Given the description of an element on the screen output the (x, y) to click on. 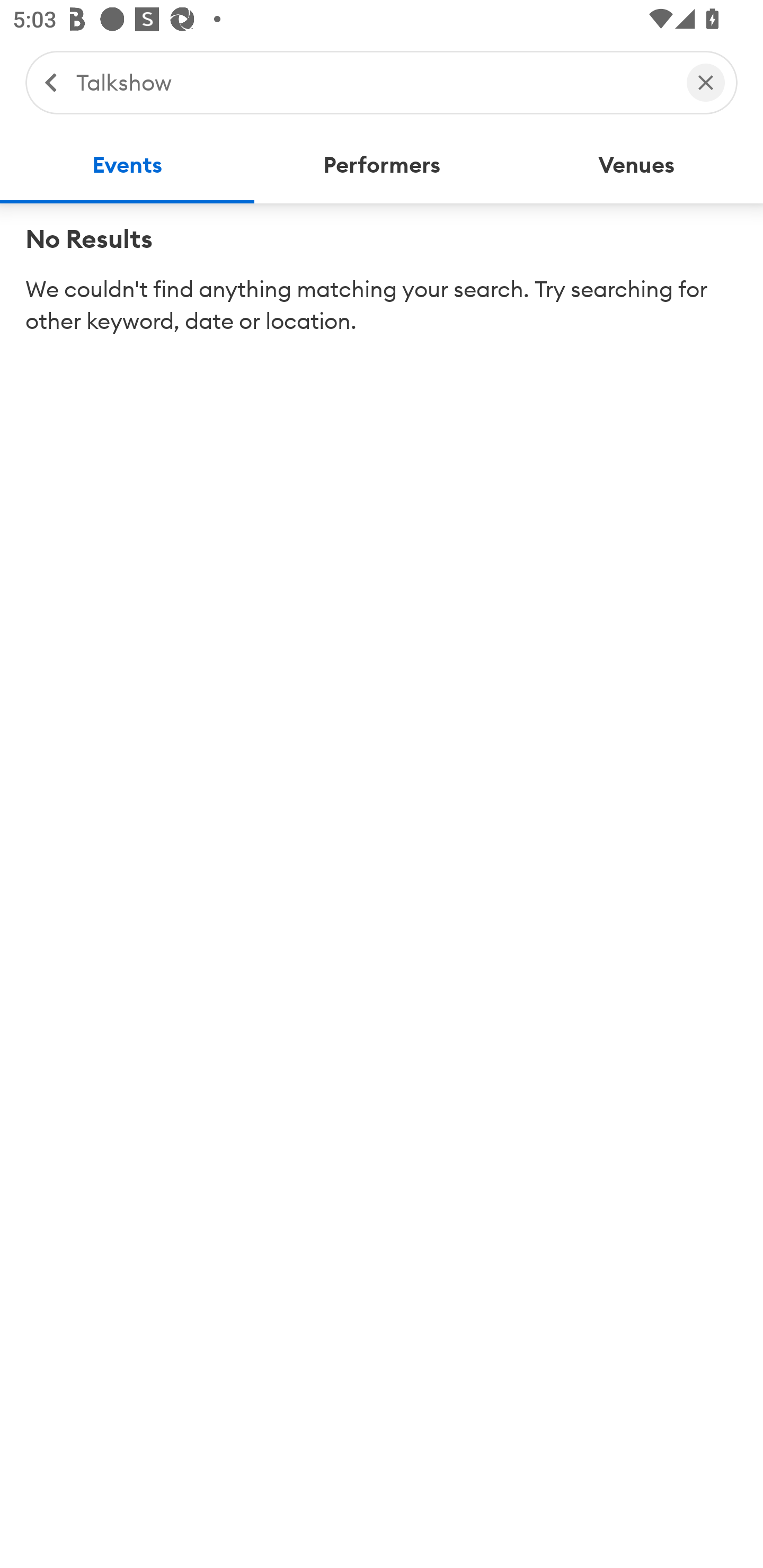
Talkshow (371, 81)
Clear Search (705, 81)
Performers (381, 165)
Venues (635, 165)
